Given the description of an element on the screen output the (x, y) to click on. 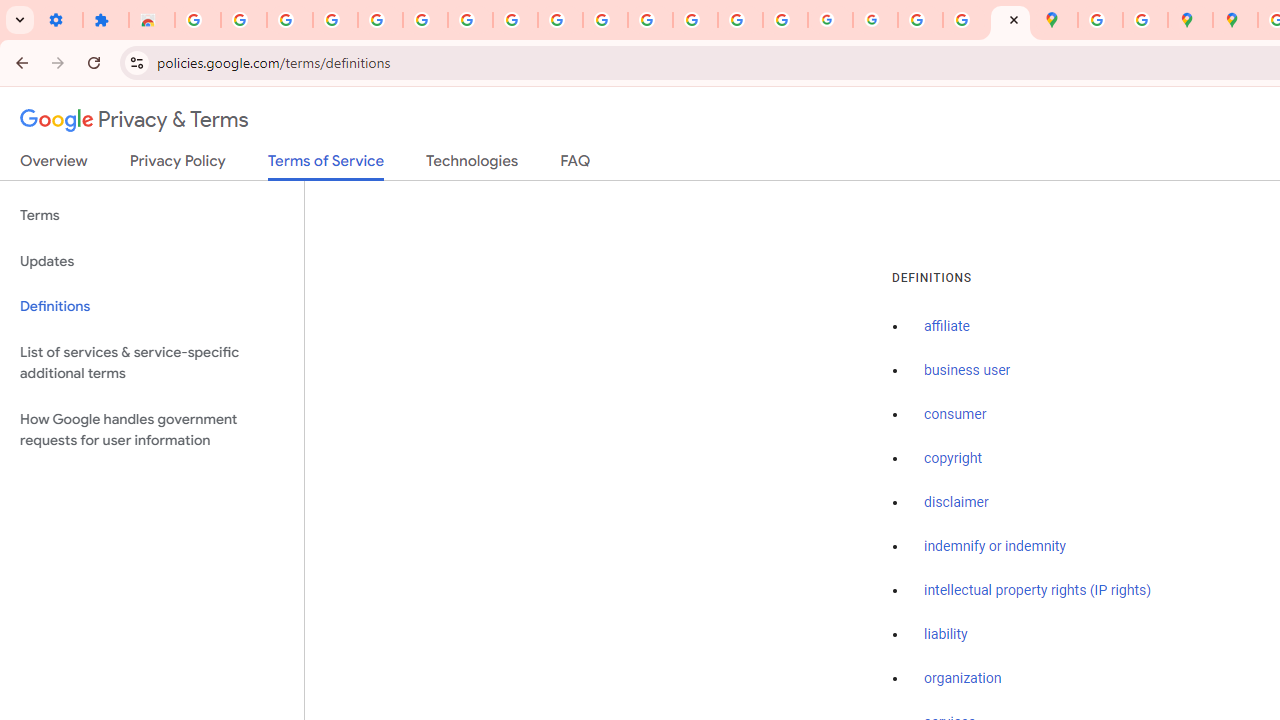
https://scholar.google.com/ (650, 20)
copyright (952, 459)
Sign in - Google Accounts (425, 20)
consumer (955, 415)
Reviews: Helix Fruit Jump Arcade Game (152, 20)
business user (967, 371)
